Given the description of an element on the screen output the (x, y) to click on. 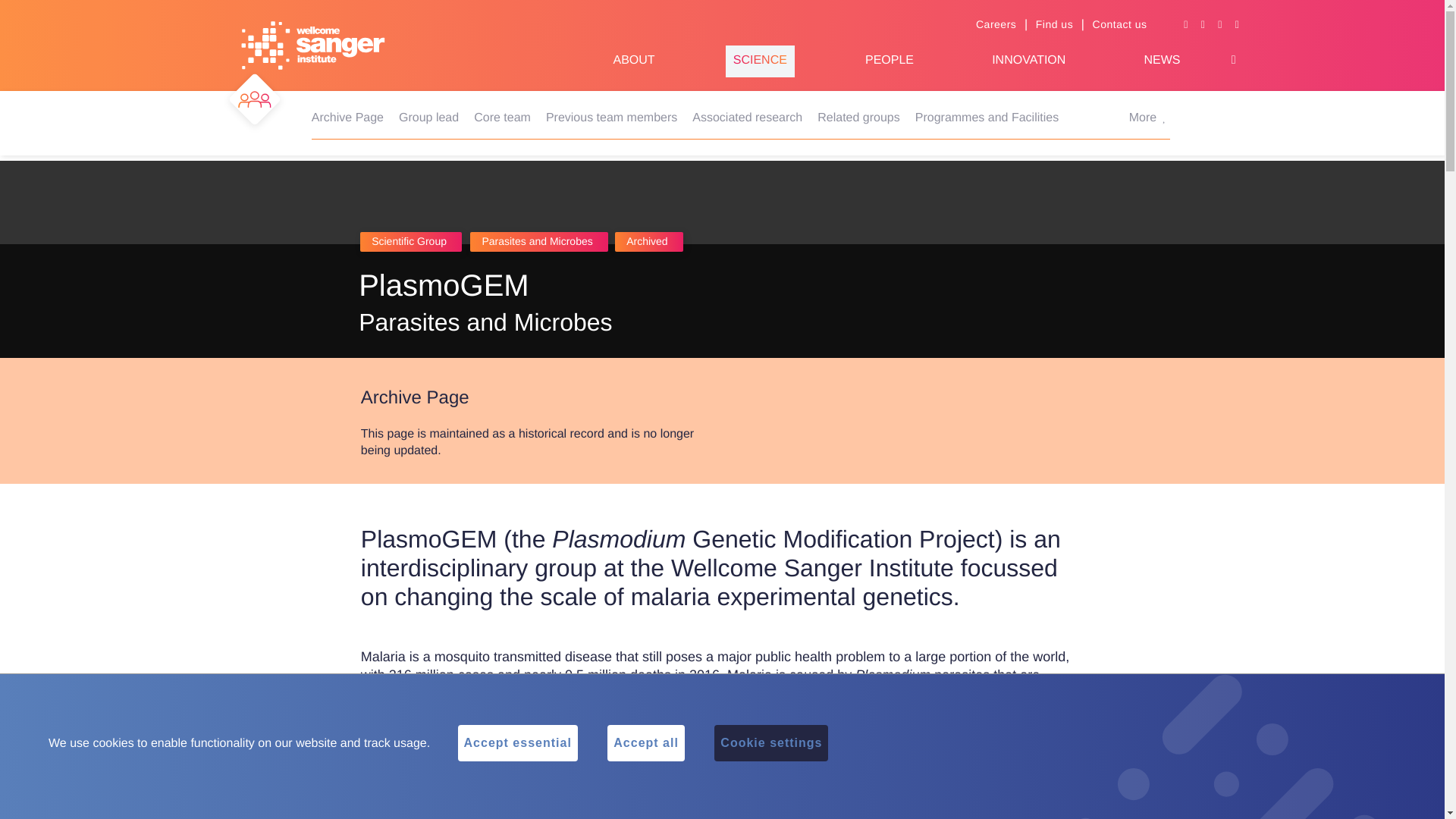
innovation (1028, 60)
about (632, 60)
Search (1233, 60)
Cookie settings (771, 742)
ABOUT (632, 60)
science (760, 60)
SCIENCE (760, 60)
news (1160, 60)
Contact us (1119, 24)
Careers (995, 24)
Wellcome Sanger Institute (313, 45)
Find us (1053, 24)
Accept essential (518, 742)
PEOPLE (889, 60)
